Given the description of an element on the screen output the (x, y) to click on. 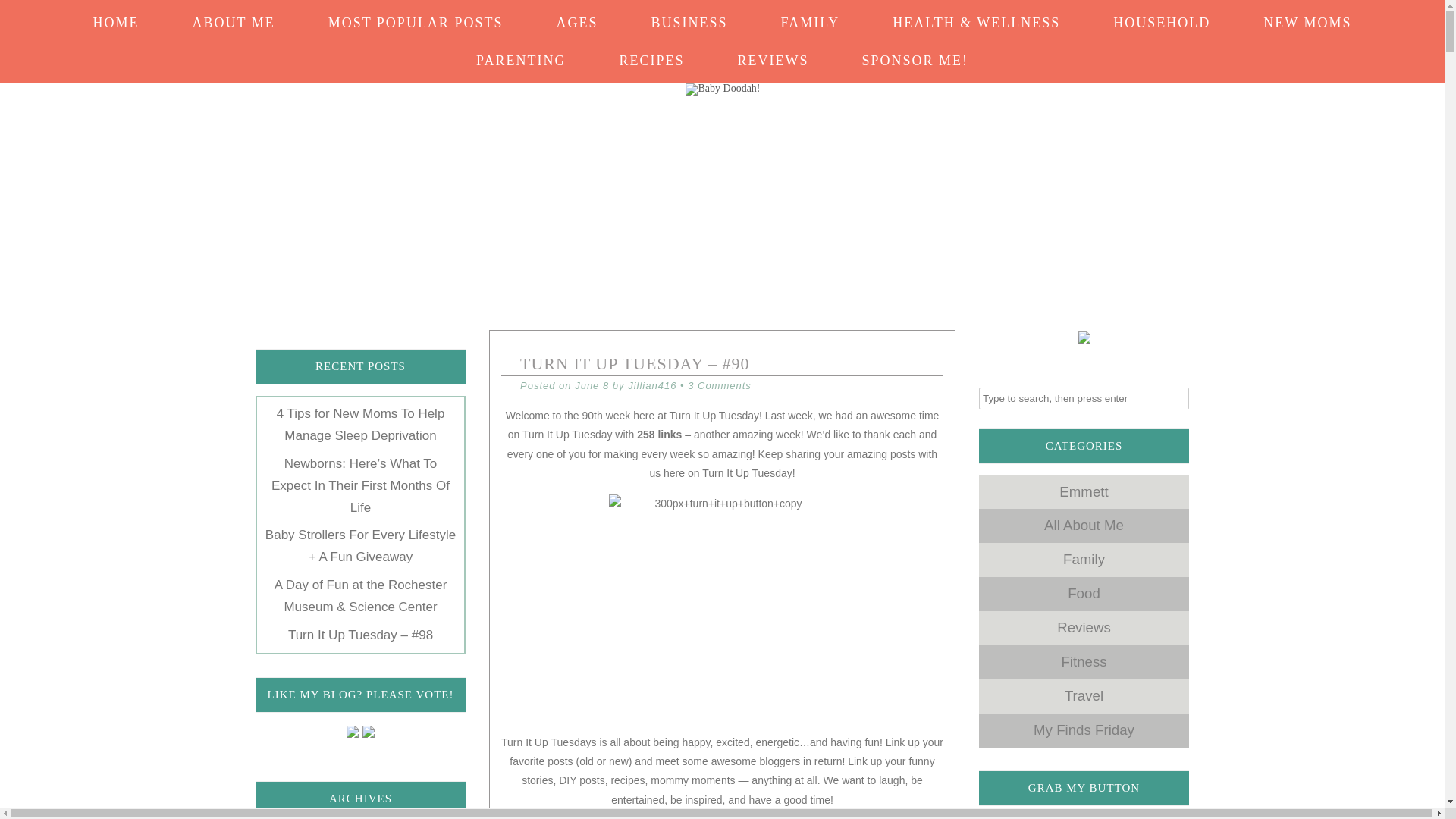
Type to search, then press enter (1083, 397)
MOST POPULAR POSTS (415, 15)
View all posts by Jillian416 (652, 385)
4 Tips for New Moms To Help Manage Sleep Deprivation (360, 424)
3 Comments (719, 385)
Jillian416 (652, 385)
PARENTING (520, 52)
REVIEWS (772, 52)
SPONSOR ME! (914, 52)
2015-06-08T20:00:52-04:00 (591, 385)
BUSINESS (689, 15)
FAMILY (810, 15)
HOUSEHOLD (1161, 15)
ABOUT ME (233, 15)
RECIPES (651, 52)
